Given the description of an element on the screen output the (x, y) to click on. 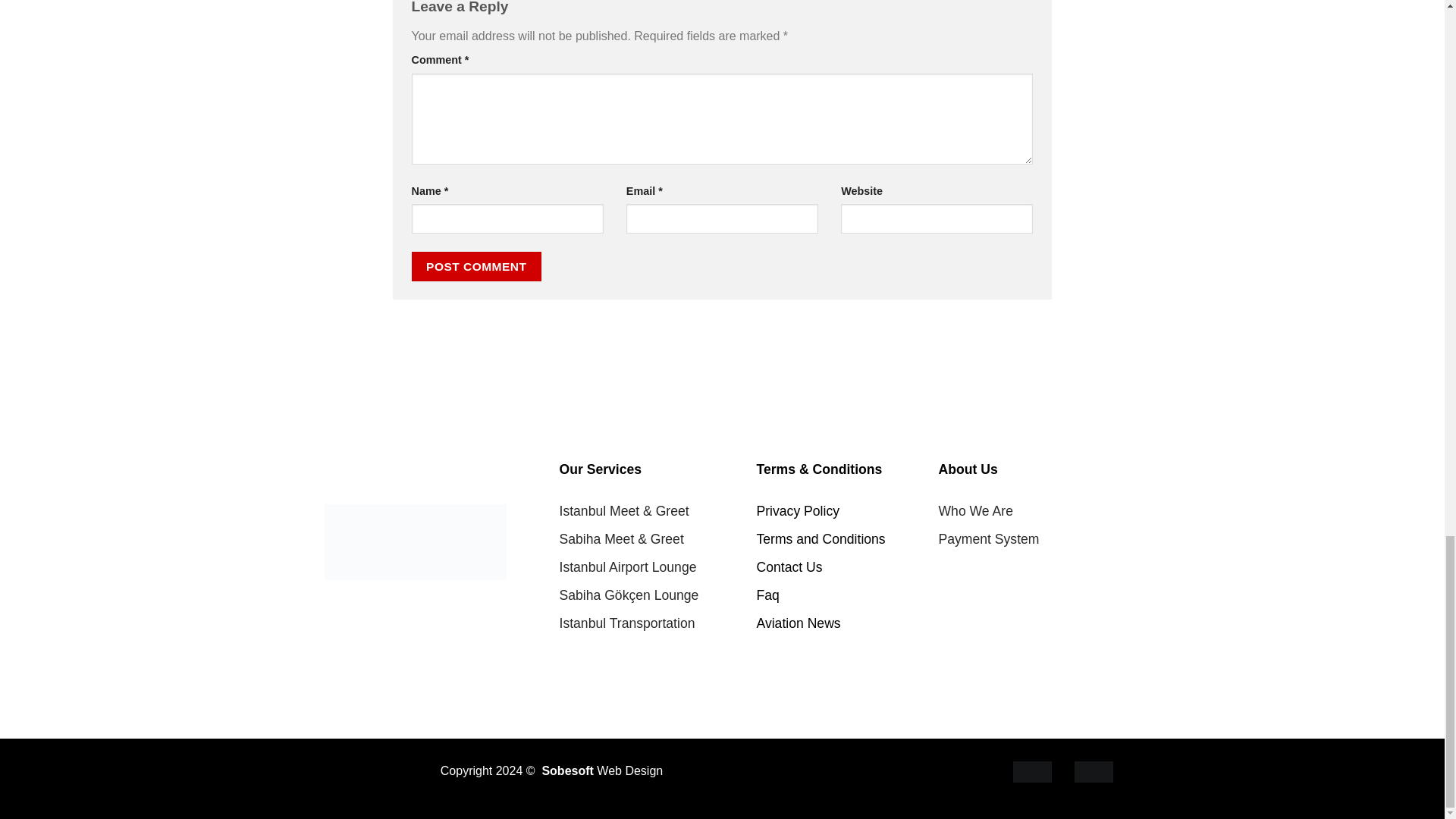
Payment System (989, 539)
Faq (767, 595)
Istanbul Airport Lounge (628, 566)
Who We Are (976, 510)
Aviation News (799, 622)
Sobesoft (566, 770)
Terms and Conditions (821, 539)
Post Comment (475, 266)
Istanbul Transportation (627, 622)
Post Comment (475, 266)
Privacy Policy (798, 510)
Contact Us (789, 566)
